Given the description of an element on the screen output the (x, y) to click on. 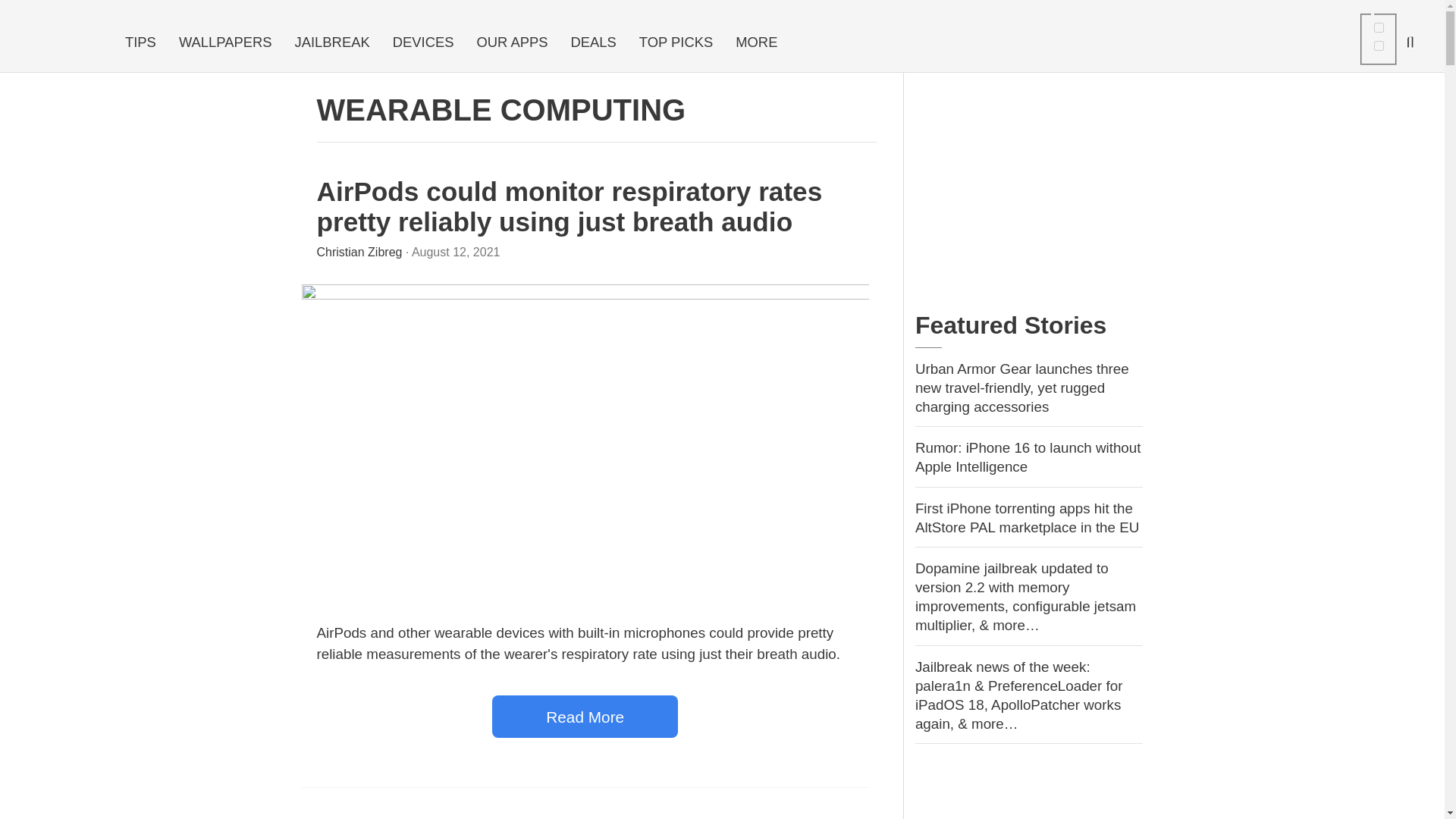
DEVICES (423, 42)
Wallpapers (225, 42)
JAILBREAK (332, 42)
WALLPAPERS (225, 42)
TIPS (140, 42)
OUR APPS (511, 42)
Tips (140, 42)
